Given the description of an element on the screen output the (x, y) to click on. 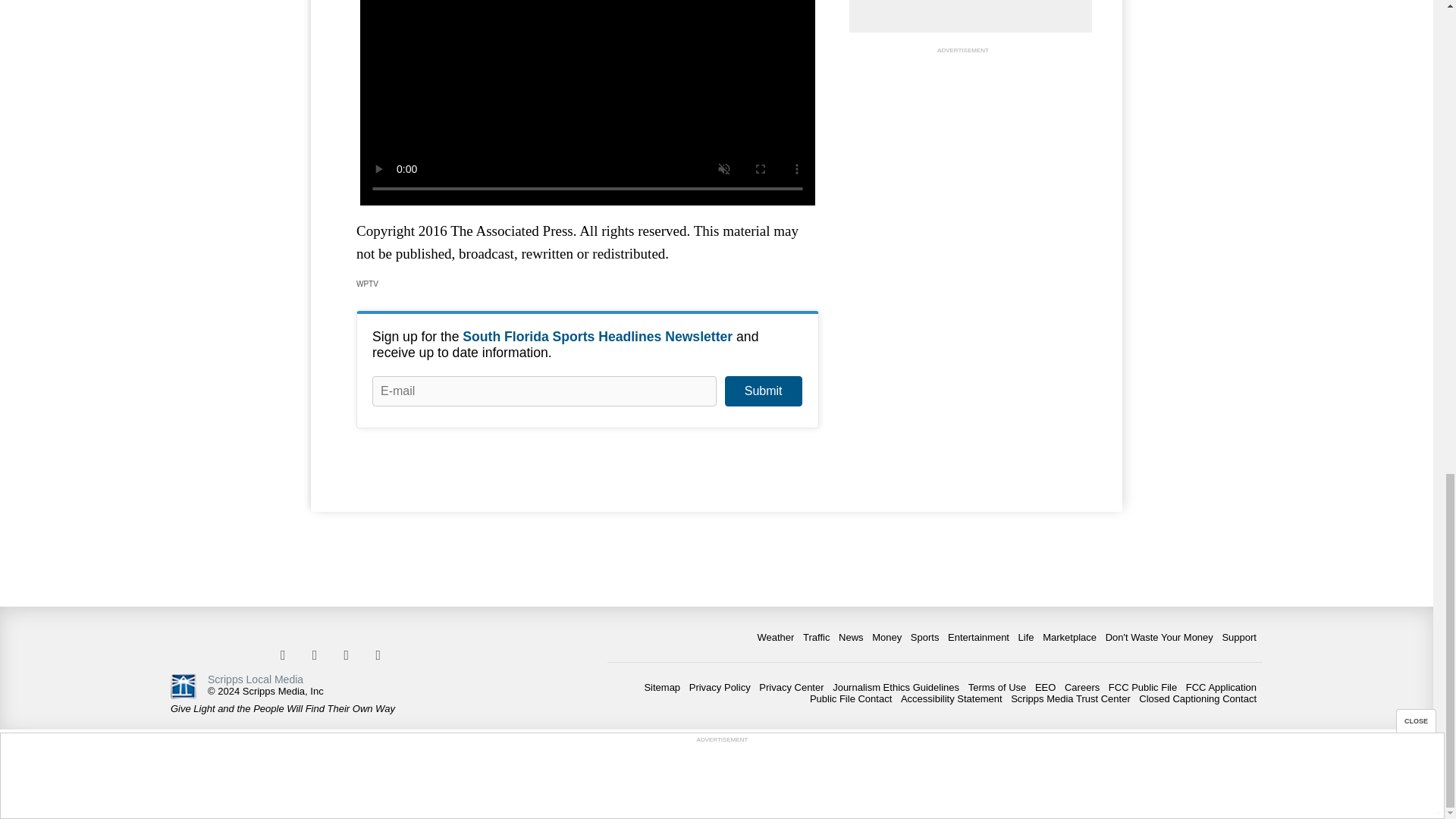
Submit (763, 390)
3rd party ad content (962, 152)
